Given the description of an element on the screen output the (x, y) to click on. 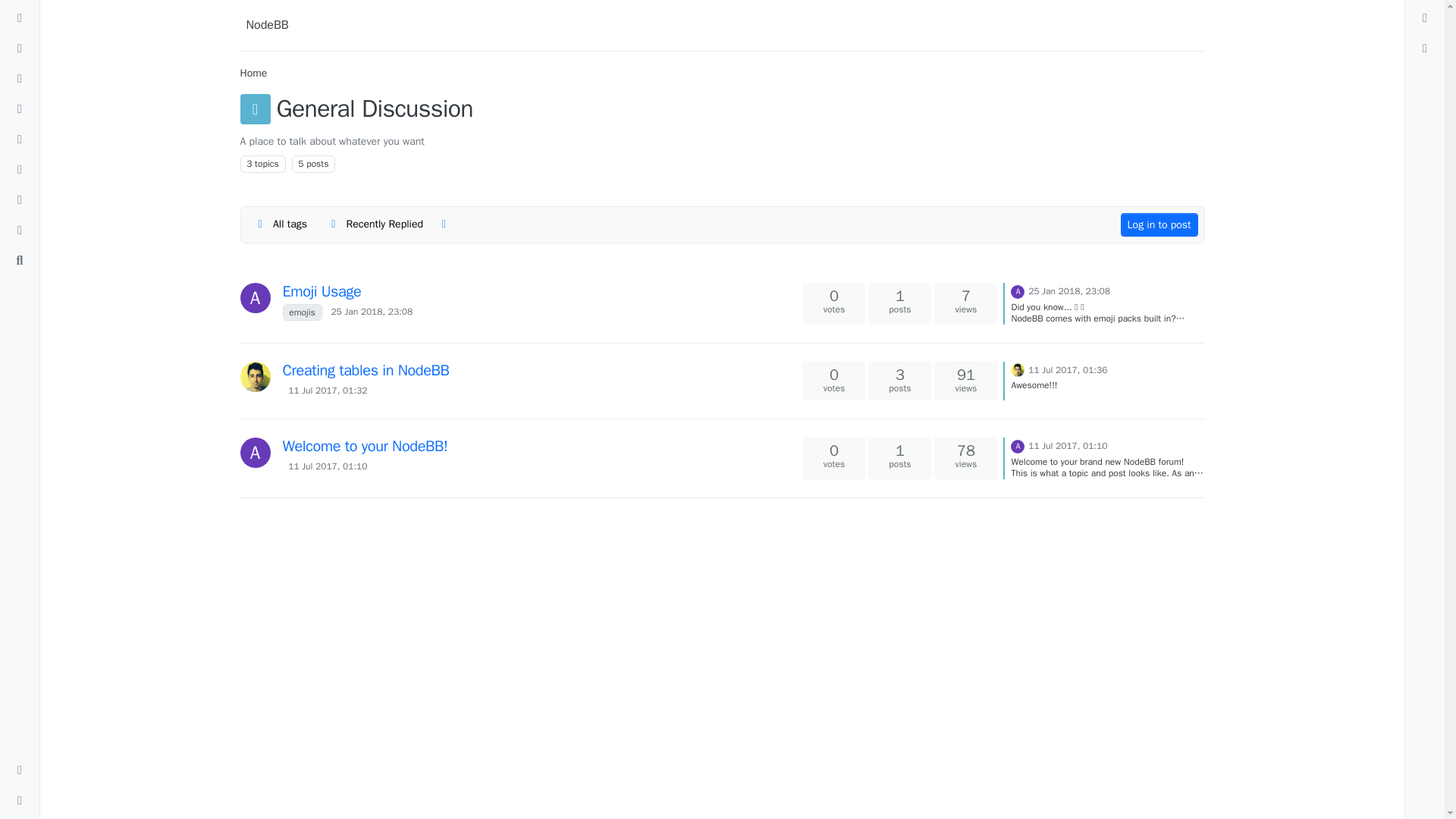
admin (254, 297)
carl (1017, 368)
25 Jan 2018, 23:08 (1068, 291)
carl (254, 376)
25 Jan 2018, 23:08 (371, 312)
11 Jul 2017, 01:32 (327, 390)
NodeBB (267, 25)
91 (965, 375)
admin (1017, 291)
